Given the description of an element on the screen output the (x, y) to click on. 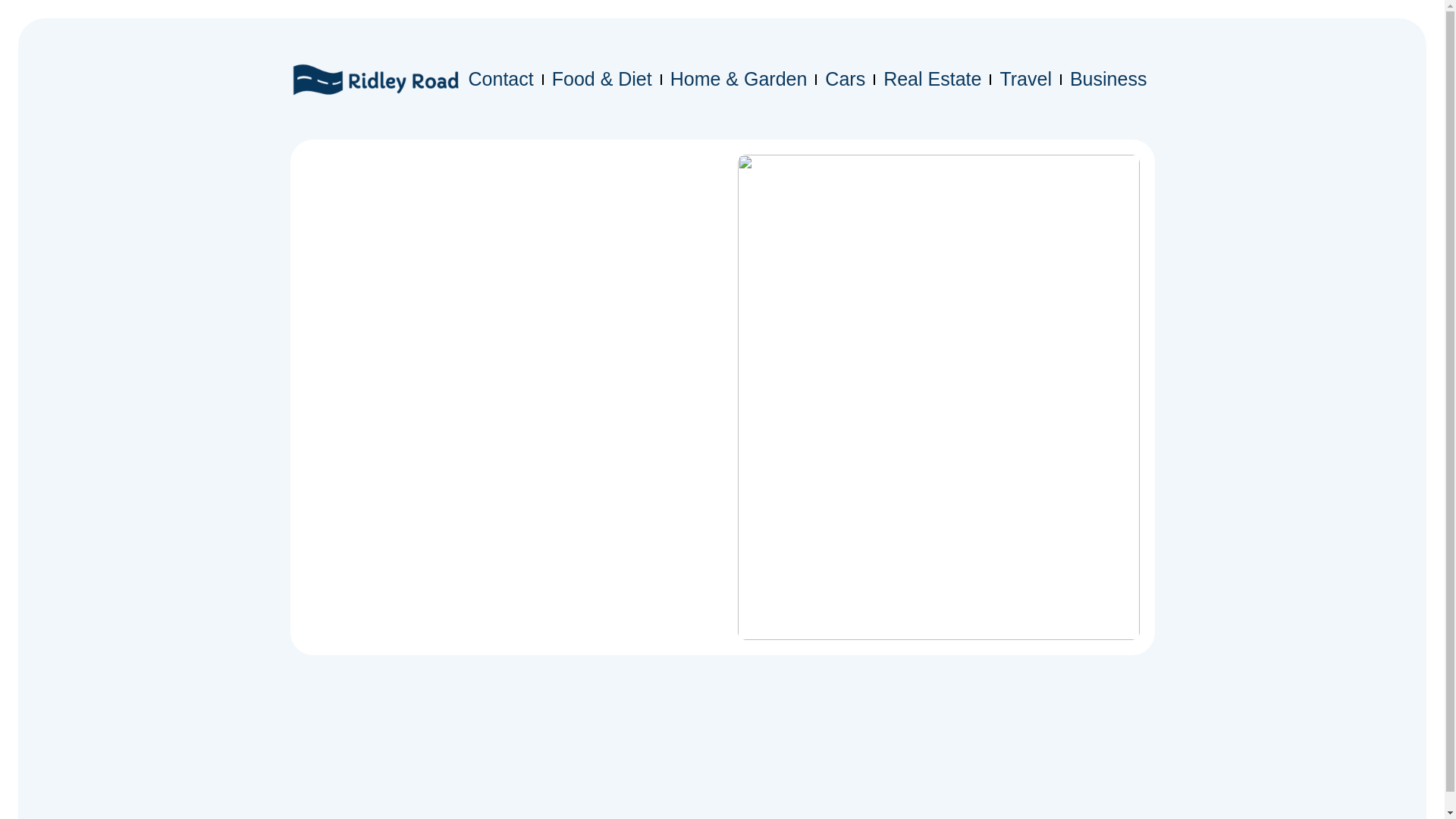
Business (1108, 79)
Real Estate (932, 79)
Cars (844, 79)
Contact (501, 79)
Travel (1025, 79)
